Given the description of an element on the screen output the (x, y) to click on. 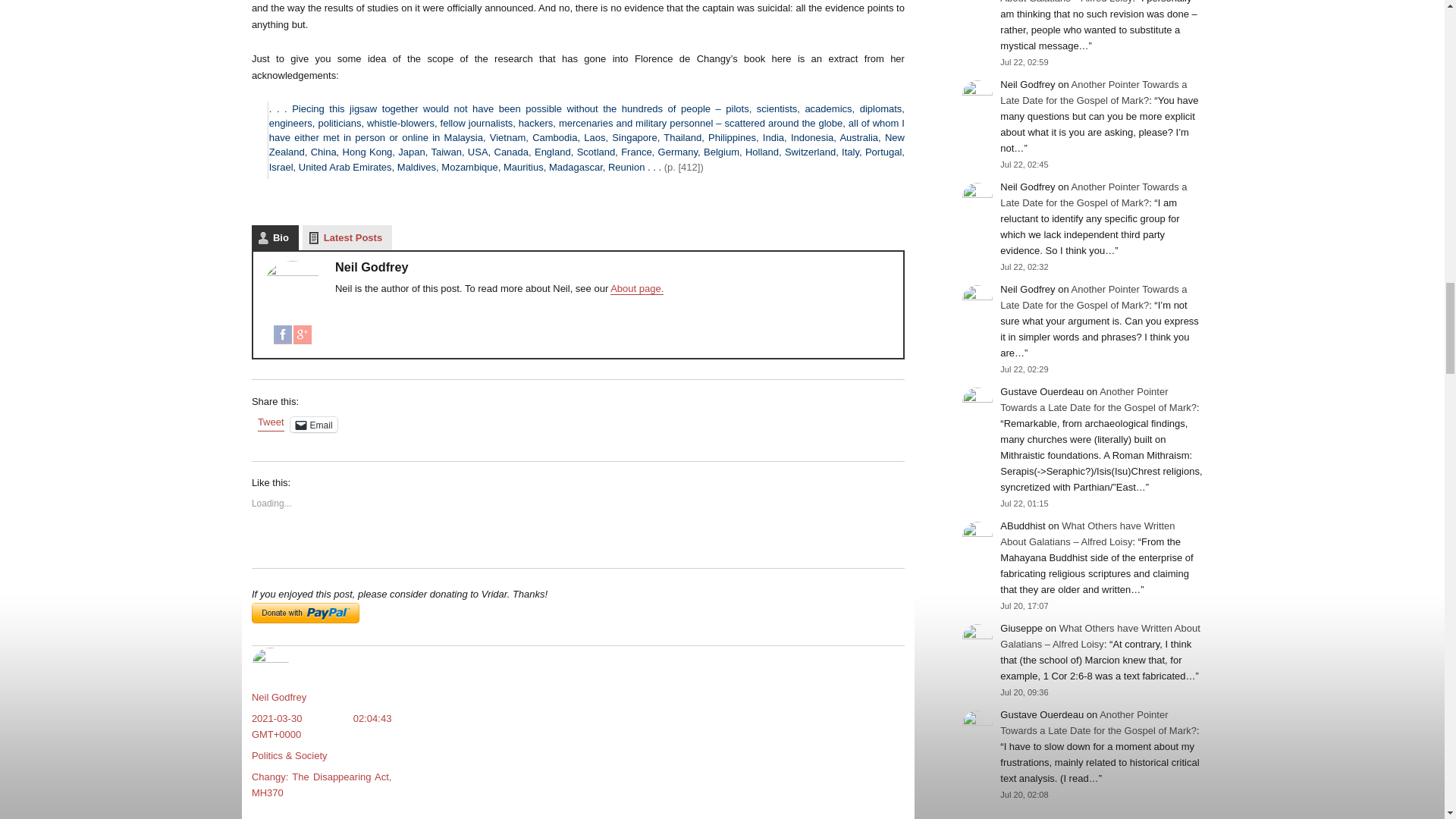
Neil Godfrey (278, 696)
Facebook (282, 334)
Changy: The Disappearing Act (319, 776)
About page. (636, 288)
Bio (274, 237)
Email (313, 424)
Click to email a link to a friend (313, 424)
Tweet (270, 423)
Latest Posts (346, 237)
